Given the description of an element on the screen output the (x, y) to click on. 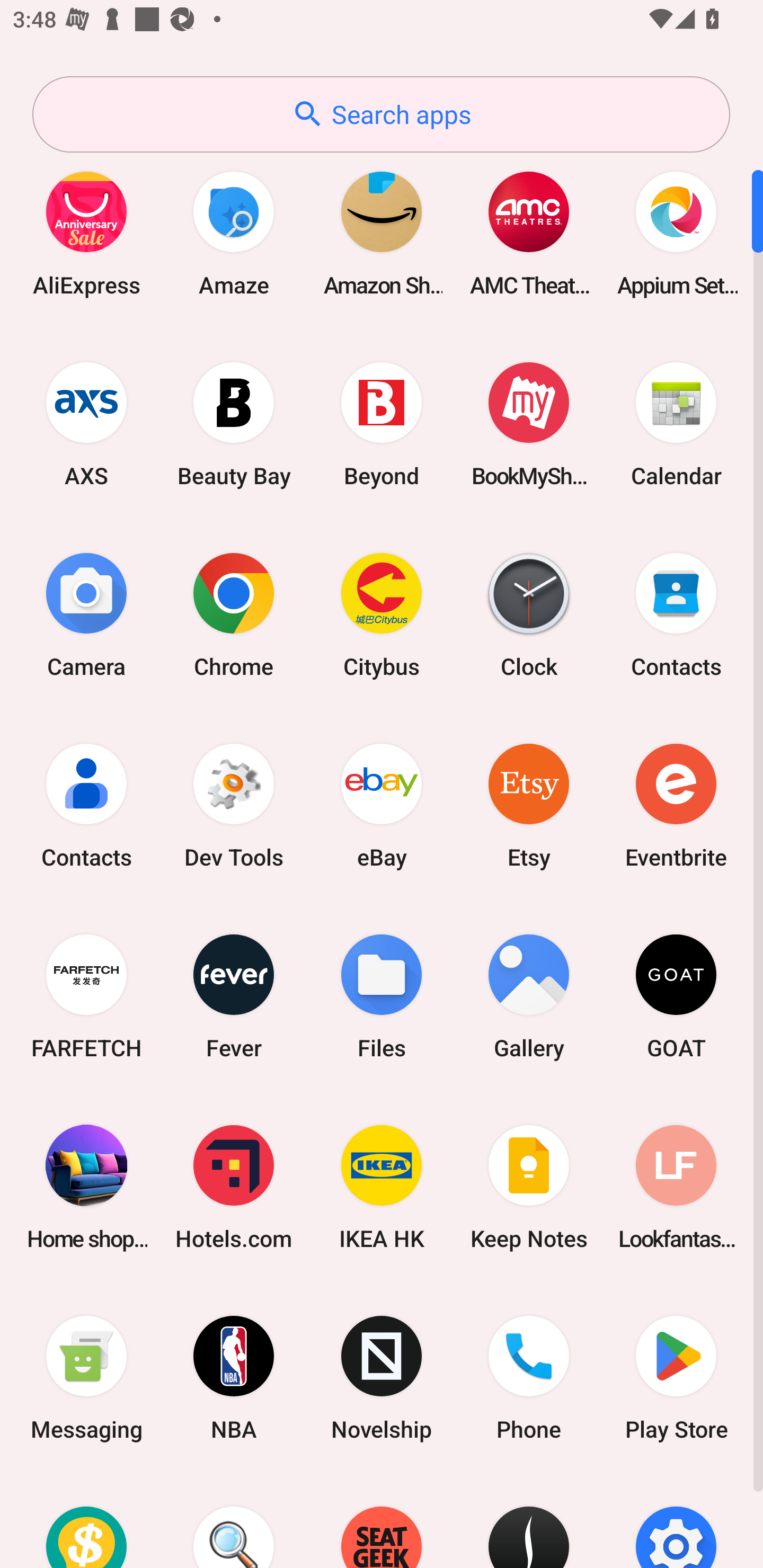
  Search apps (381, 114)
AliExpress (86, 233)
Amaze (233, 233)
Amazon Shopping (381, 233)
AMC Theatres (528, 233)
Appium Settings (676, 233)
AXS (86, 424)
Beauty Bay (233, 424)
Beyond (381, 424)
BookMyShow (528, 424)
Calendar (676, 424)
Camera (86, 614)
Chrome (233, 614)
Citybus (381, 614)
Clock (528, 614)
Contacts (676, 614)
Contacts (86, 805)
Dev Tools (233, 805)
eBay (381, 805)
Etsy (528, 805)
Eventbrite (676, 805)
FARFETCH (86, 996)
Fever (233, 996)
Files (381, 996)
Gallery (528, 996)
GOAT (676, 996)
Home shopping (86, 1186)
Hotels.com (233, 1186)
IKEA HK (381, 1186)
Keep Notes (528, 1186)
Lookfantastic (676, 1186)
Messaging (86, 1377)
NBA (233, 1377)
Novelship (381, 1377)
Phone (528, 1377)
Play Store (676, 1377)
